Given the description of an element on the screen output the (x, y) to click on. 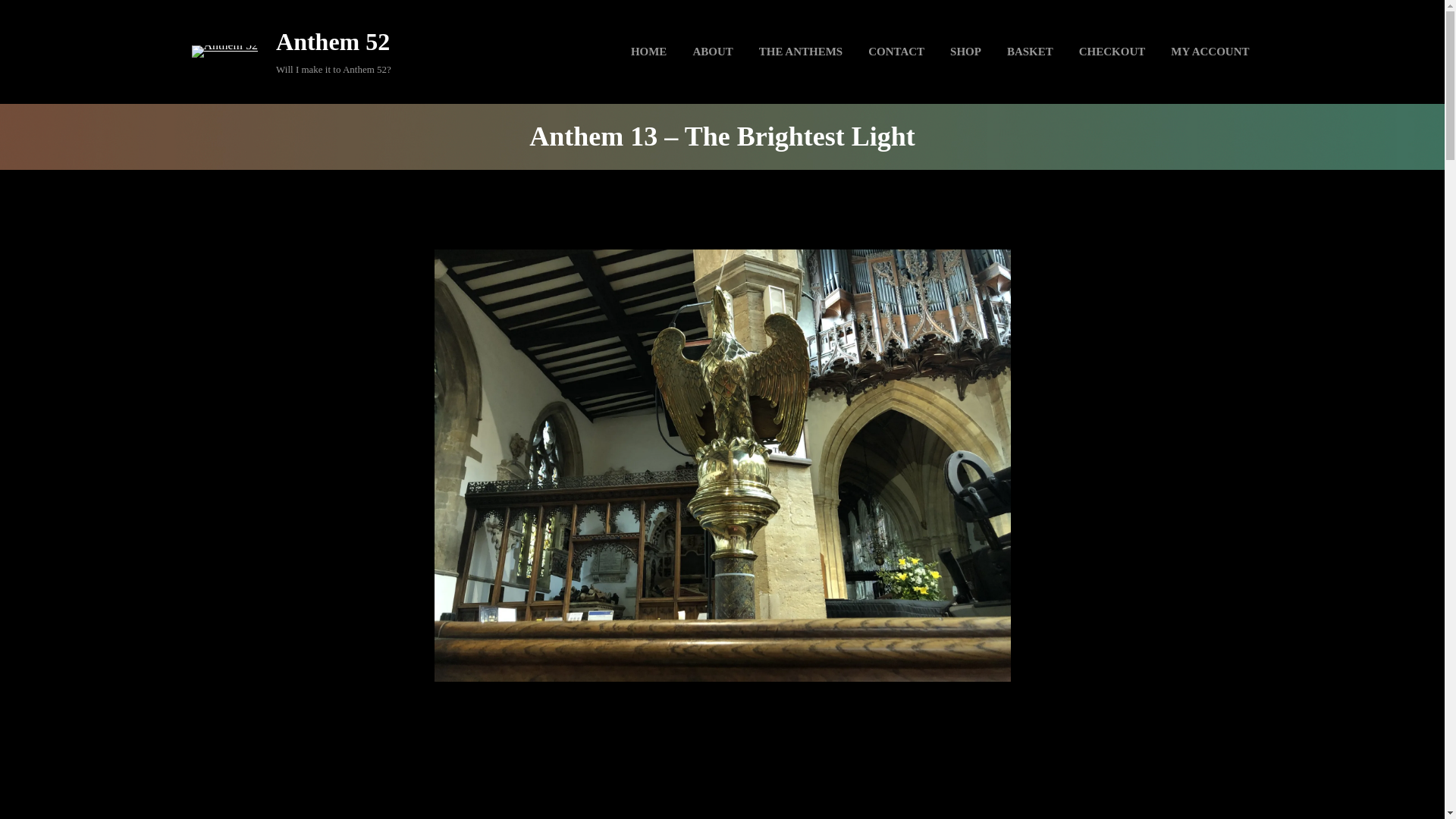
HOME (649, 51)
Embed Player (721, 769)
Anthem 52 (333, 41)
THE ANTHEMS (800, 51)
SHOP (965, 51)
BASKET (1030, 51)
CONTACT (896, 51)
CHECKOUT (1112, 51)
ABOUT (712, 51)
MY ACCOUNT (1209, 51)
